Given the description of an element on the screen output the (x, y) to click on. 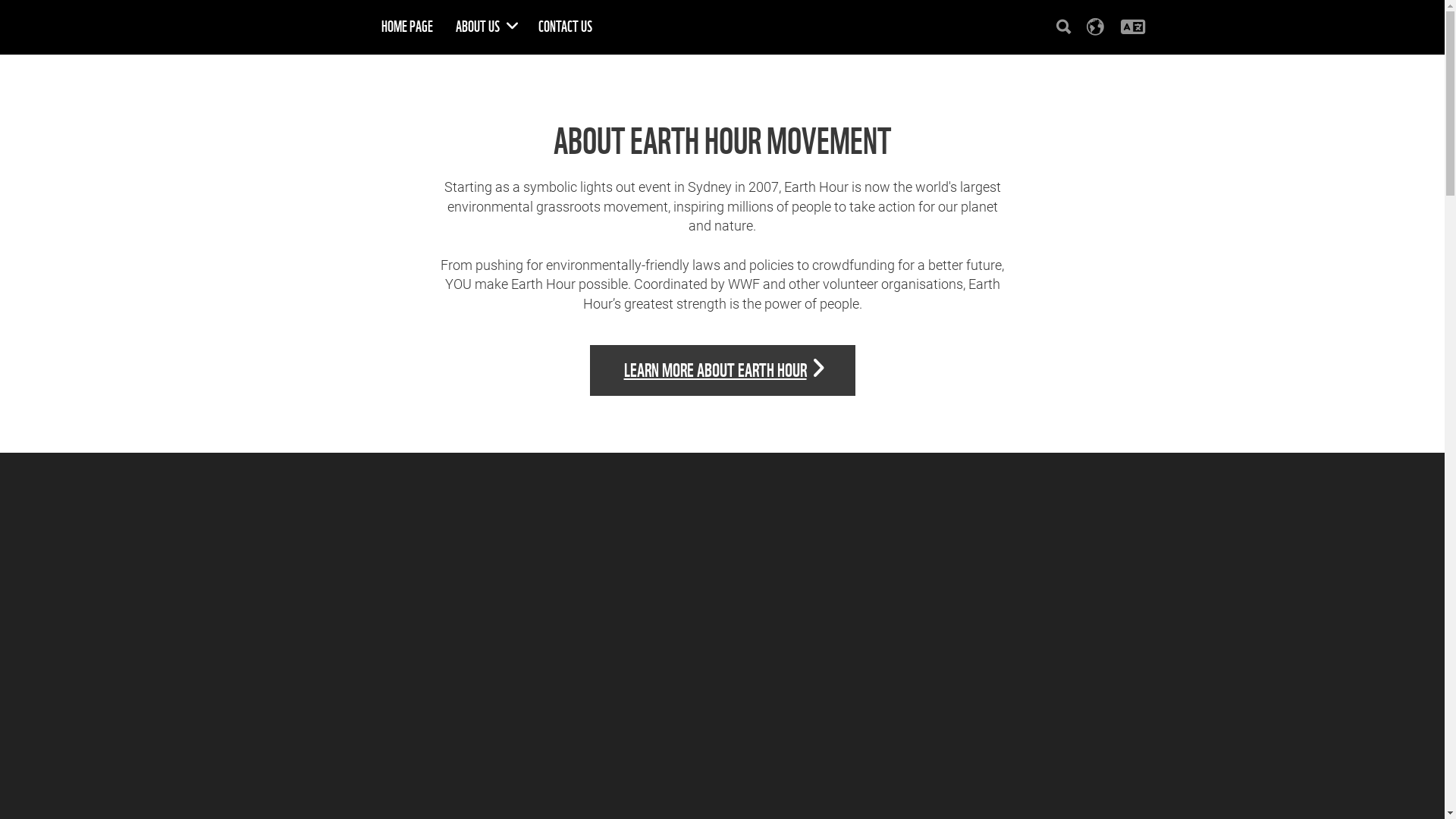
LEARN MORE ABOUT EARTH HOUR Element type: text (722, 370)
ABOUT US Element type: text (485, 27)
HOME PAGE Element type: text (407, 27)
CONTACT US Element type: text (564, 27)
